Given the description of an element on the screen output the (x, y) to click on. 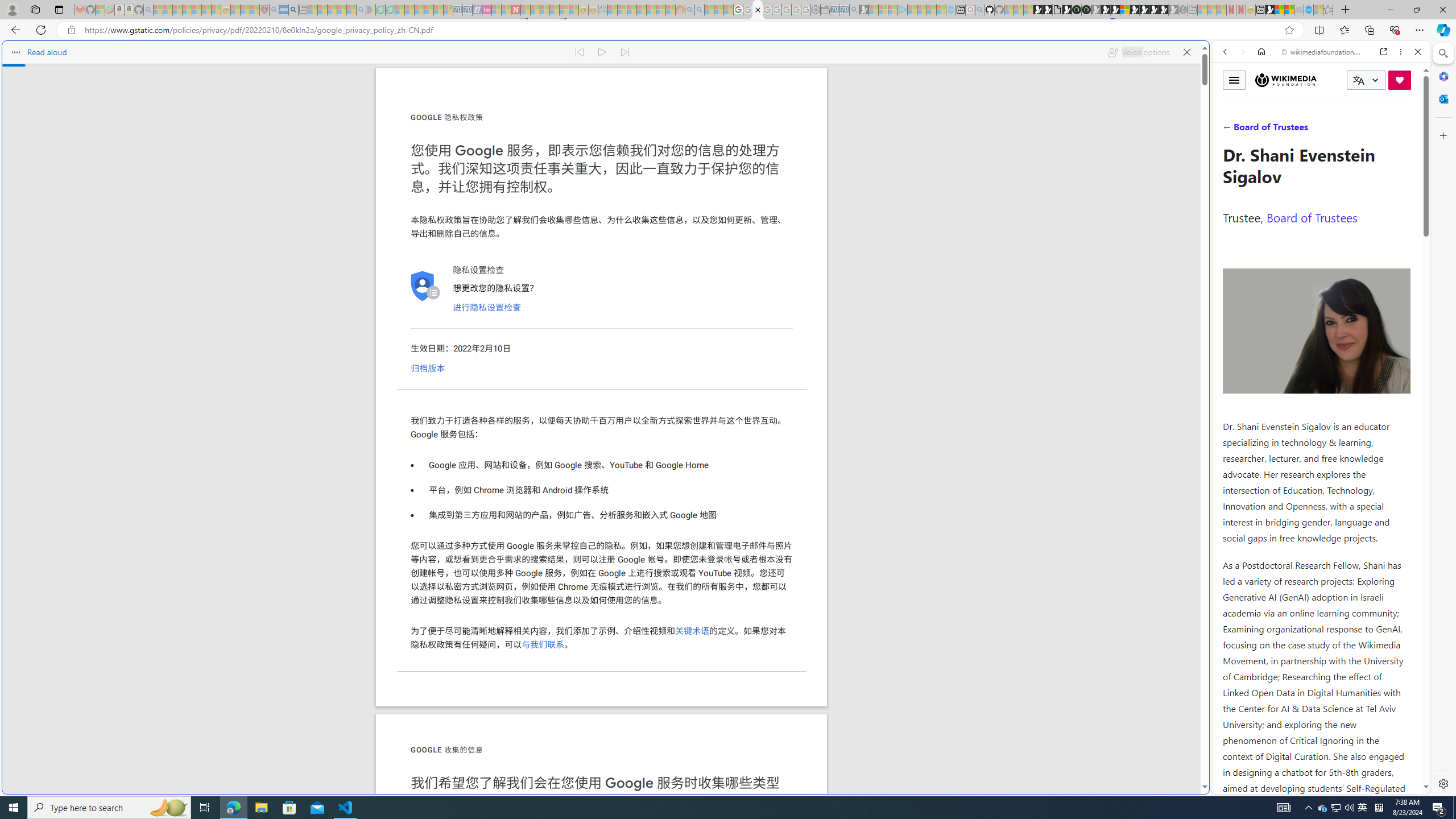
Home | Sky Blue Bikes - Sky Blue Bikes - Sleeping (950, 9)
Trusted Community Engagement and Contributions | Guidelines (525, 9)
Play Cave FRVR in your browser | Games from Microsoft Start (922, 242)
Microsoft 365 (1442, 76)
Search or enter web address (922, 108)
Wiktionary (1315, 380)
Donate now (1399, 80)
14 Common Myths Debunked By Scientific Facts - Sleeping (534, 9)
Wikimedia Foundation (1286, 79)
Forward (1242, 51)
Terms of Use Agreement - Sleeping (380, 9)
